Given the description of an element on the screen output the (x, y) to click on. 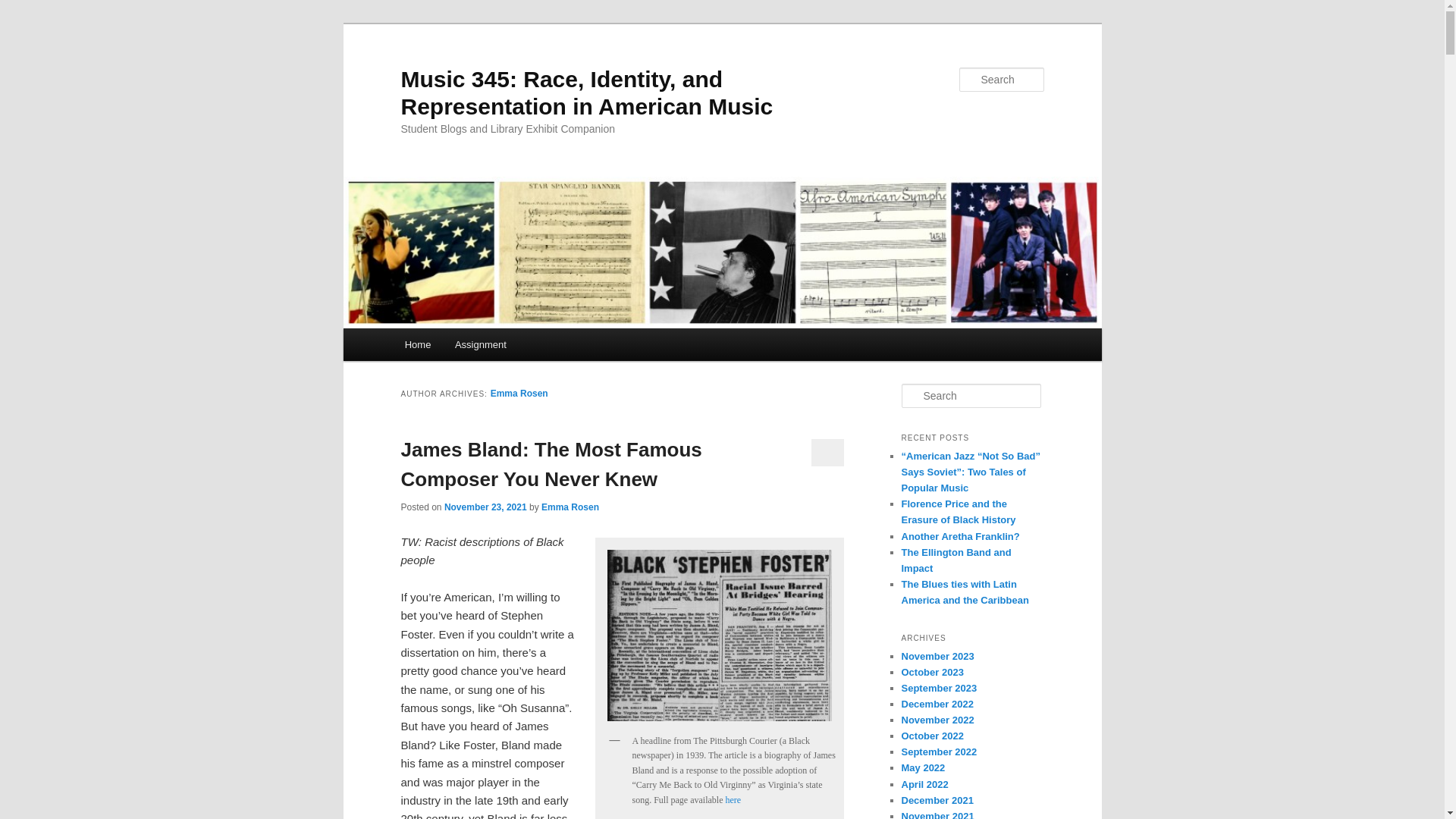
here (733, 799)
Search (24, 8)
November 23, 2021 (485, 507)
Home (417, 344)
James Bland: The Most Famous Composer You Never Knew (550, 464)
Assignment (480, 344)
12:54 pm (485, 507)
View all posts by Emma Rosen (569, 507)
